Given the description of an element on the screen output the (x, y) to click on. 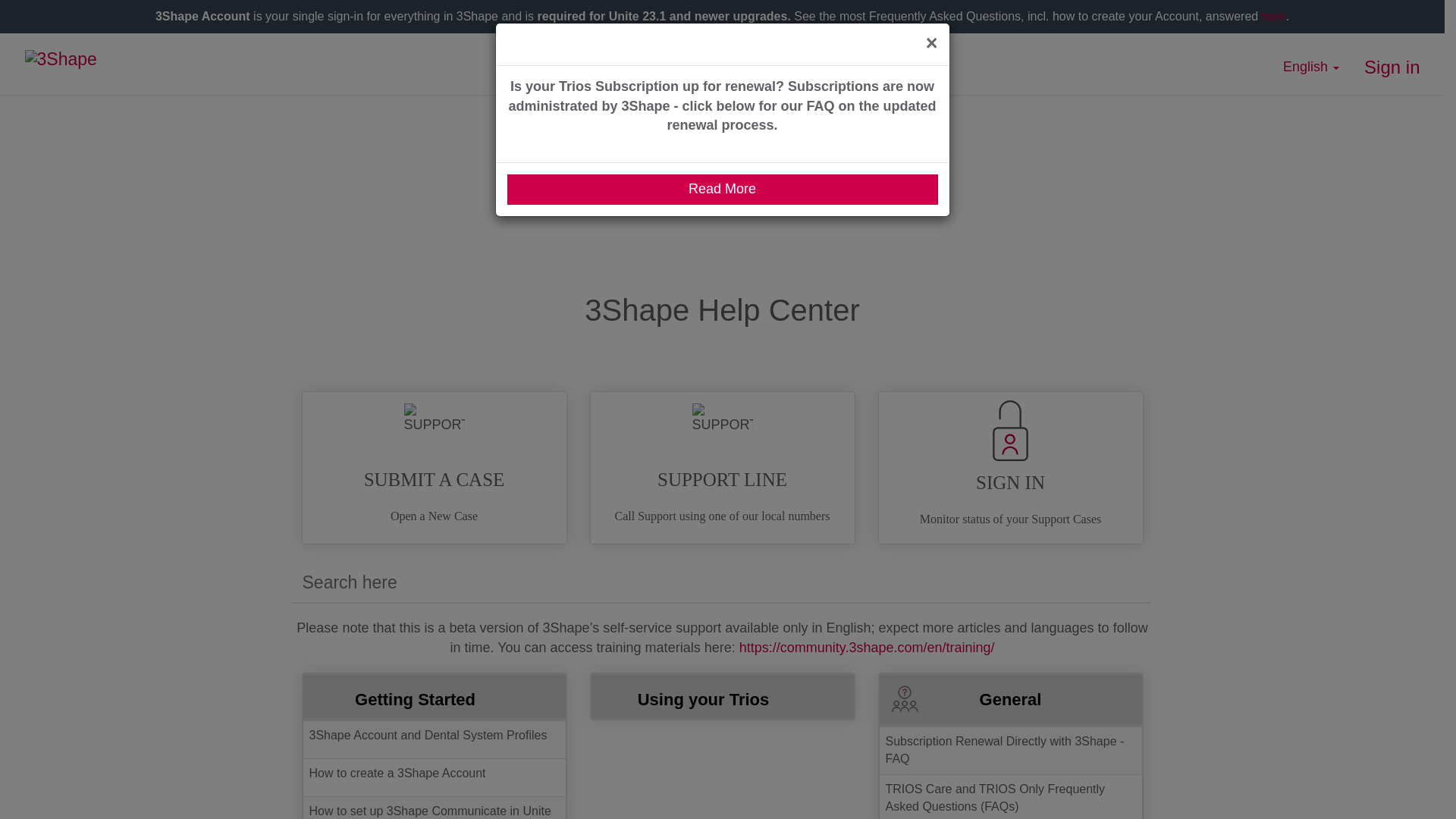
SUPPORT LINE
Call Support using one of our local numbers Element type: text (721, 467)
here Element type: text (1273, 15)
https://community.3shape.com/en/training/ Element type: text (866, 647)
English Element type: text (1310, 67)
Read More Element type: text (721, 189)
SUBMIT A CASE
Open a New Case Element type: text (433, 467)
Sign in Element type: text (1391, 67)
SIGN IN
Monitor status of your Support Cases Element type: text (1010, 467)
